Given the description of an element on the screen output the (x, y) to click on. 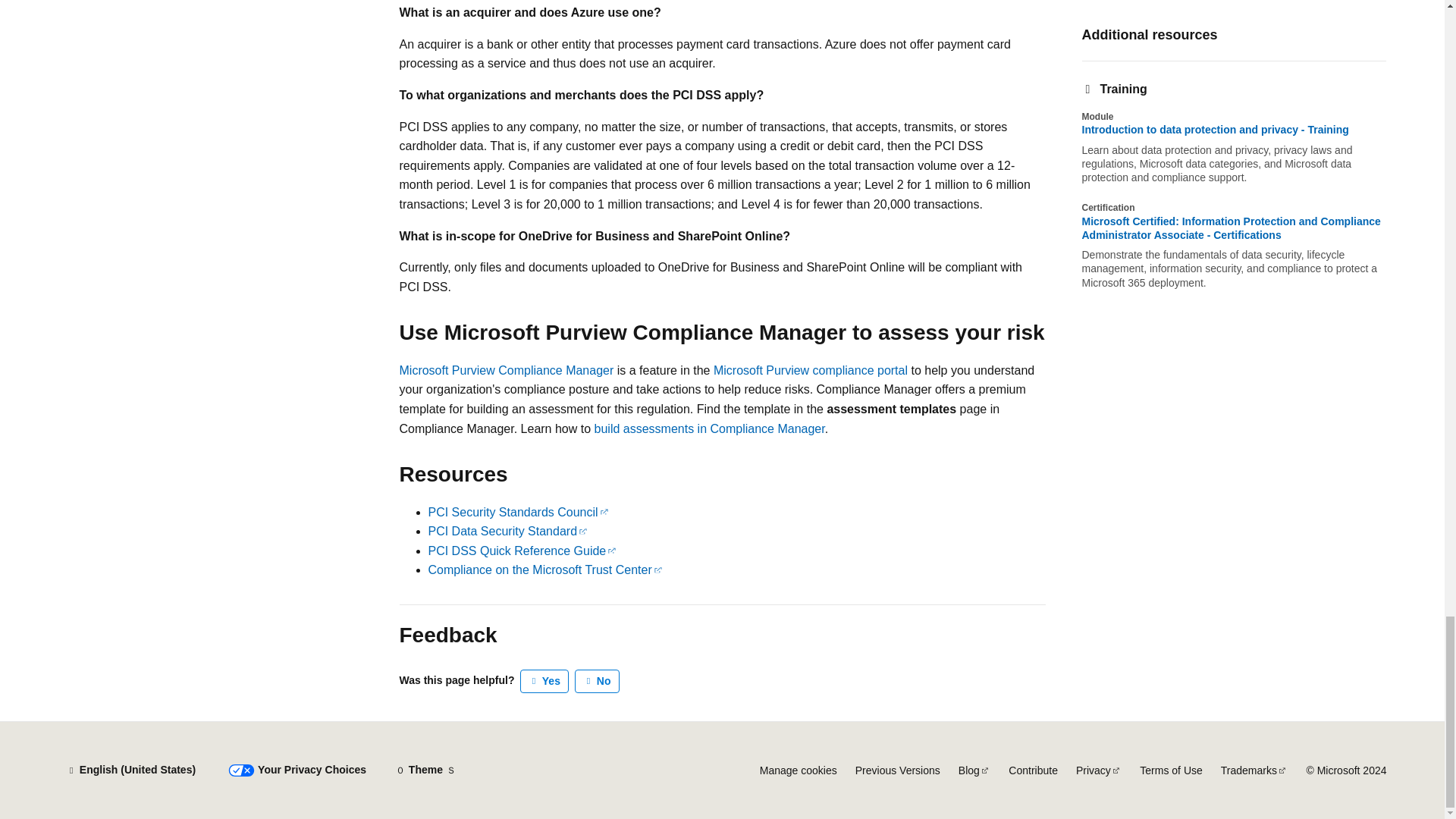
Theme (425, 770)
This article is helpful (544, 680)
This article is not helpful (597, 680)
